Given the description of an element on the screen output the (x, y) to click on. 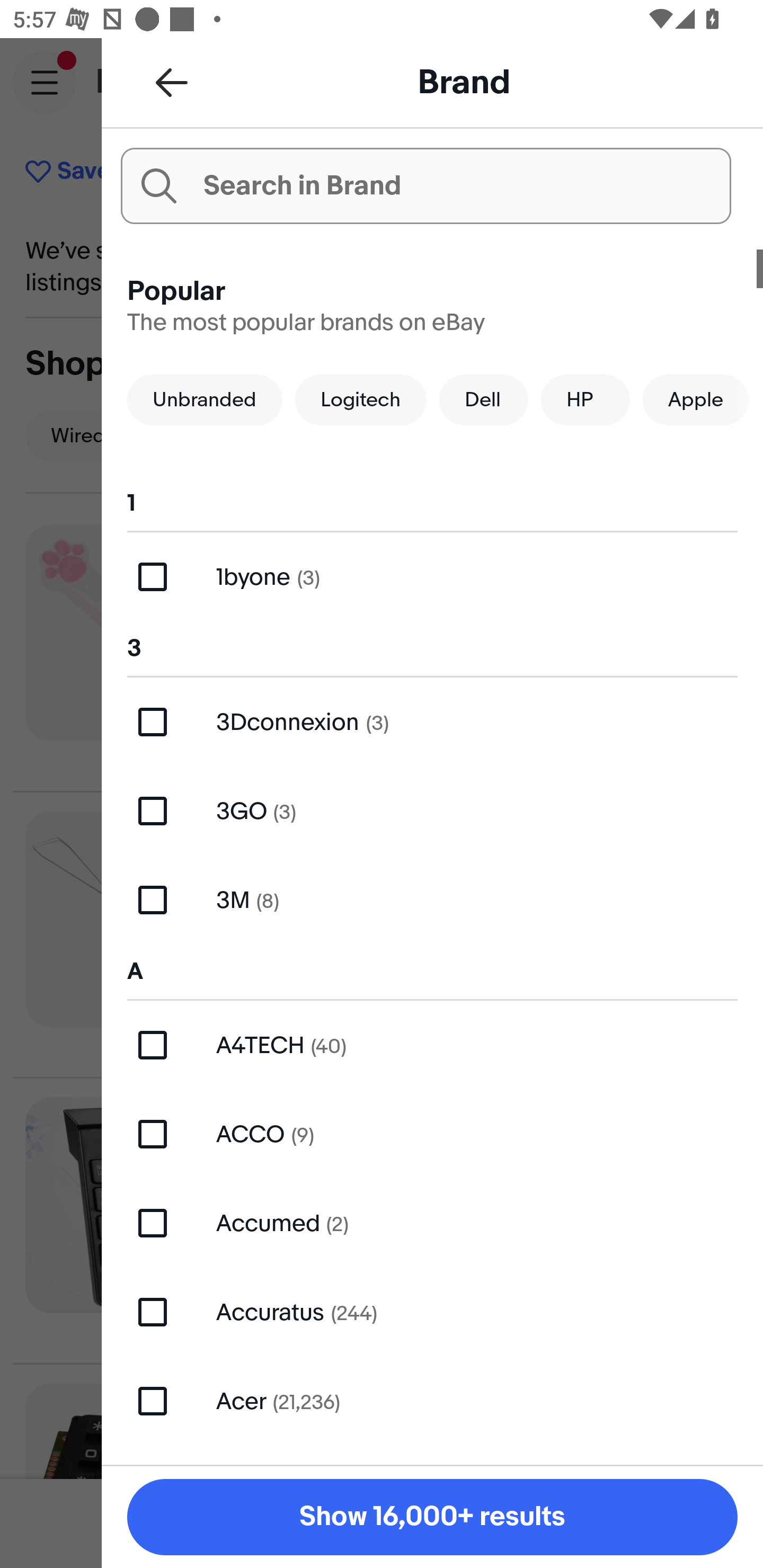
Back to all refinements (171, 81)
Search in Brand (425, 185)
Unbranded (204, 399)
Logitech (360, 399)
Dell (483, 399)
HP (585, 399)
Apple (695, 399)
1byone (3) (432, 576)
3Dconnexion (3) (432, 721)
3GO (3) (432, 811)
3M (8) (432, 899)
A4TECH (40) (432, 1044)
ACCO (9) (432, 1134)
Accumed (2) (432, 1222)
Accuratus (244) (432, 1311)
Acer (21,236) (432, 1400)
Show 16,000+ results (432, 1516)
